Given the description of an element on the screen output the (x, y) to click on. 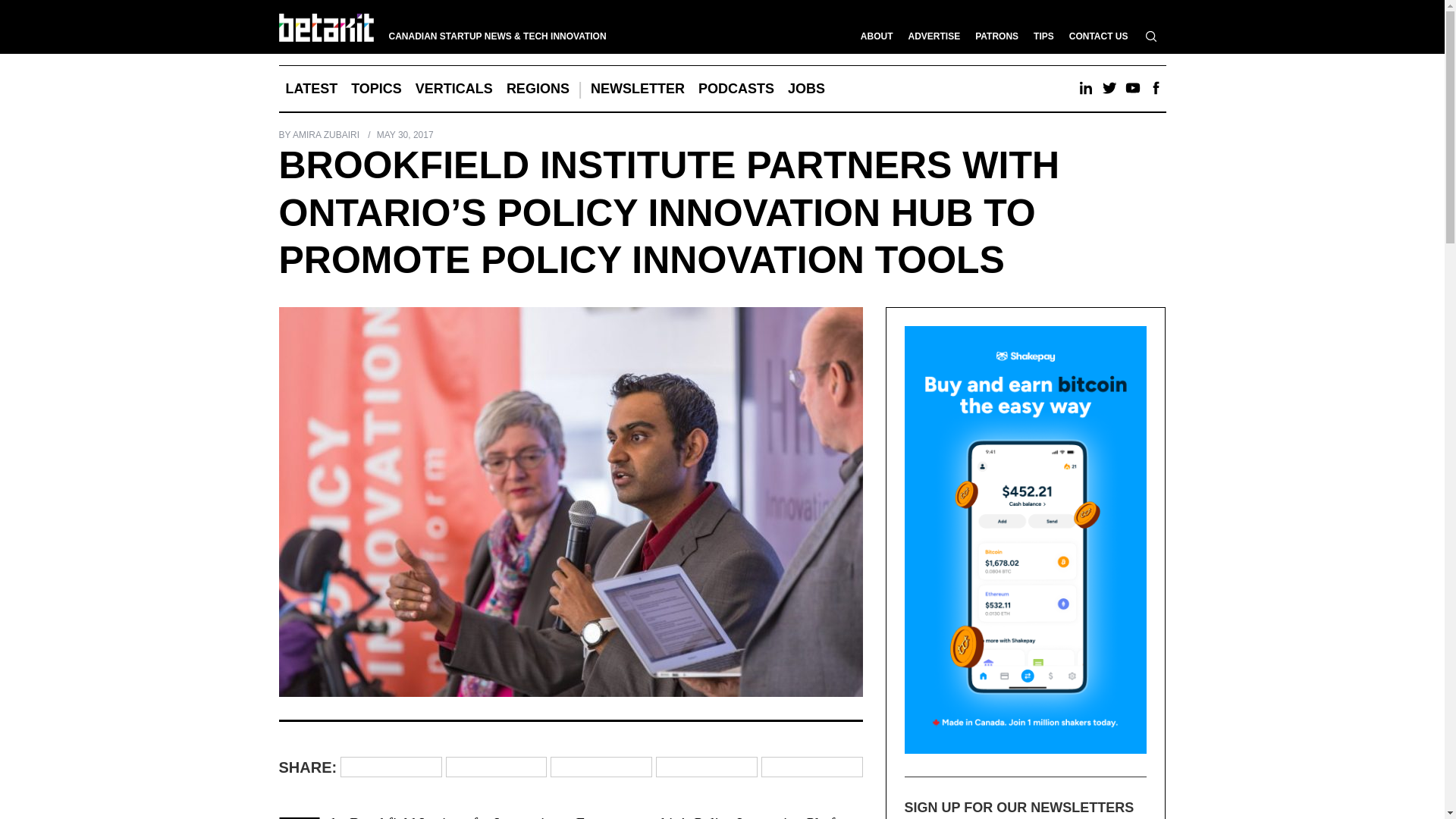
PATRONS (997, 36)
JOBS (805, 88)
VERTICALS (454, 88)
TOPICS (376, 88)
REGIONS (537, 88)
ADVERTISE (933, 36)
NEWSLETTER (637, 88)
CONTACT US (1098, 36)
ABOUT (877, 36)
PODCASTS (735, 88)
Posts by Amira Zubairi (325, 134)
LATEST (312, 88)
TIPS (1043, 36)
